Given the description of an element on the screen output the (x, y) to click on. 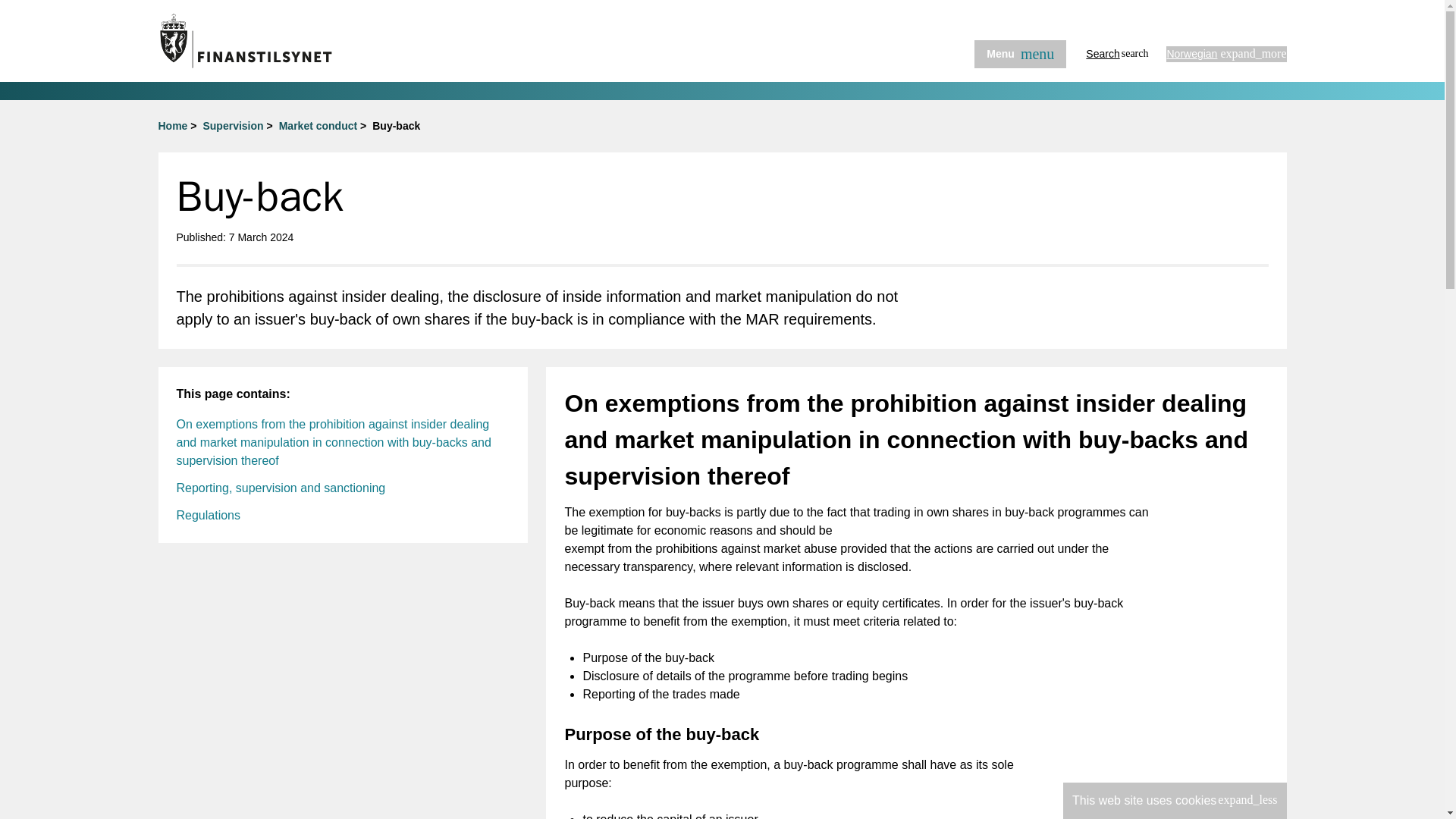
Home (172, 125)
Search (1117, 53)
Search (1117, 53)
Tilbake til forsiden (298, 40)
Regulations (1019, 53)
Market conduct (208, 514)
Reporting, supervision and sanctioning (317, 125)
This web site uses cookies (280, 487)
